Given the description of an element on the screen output the (x, y) to click on. 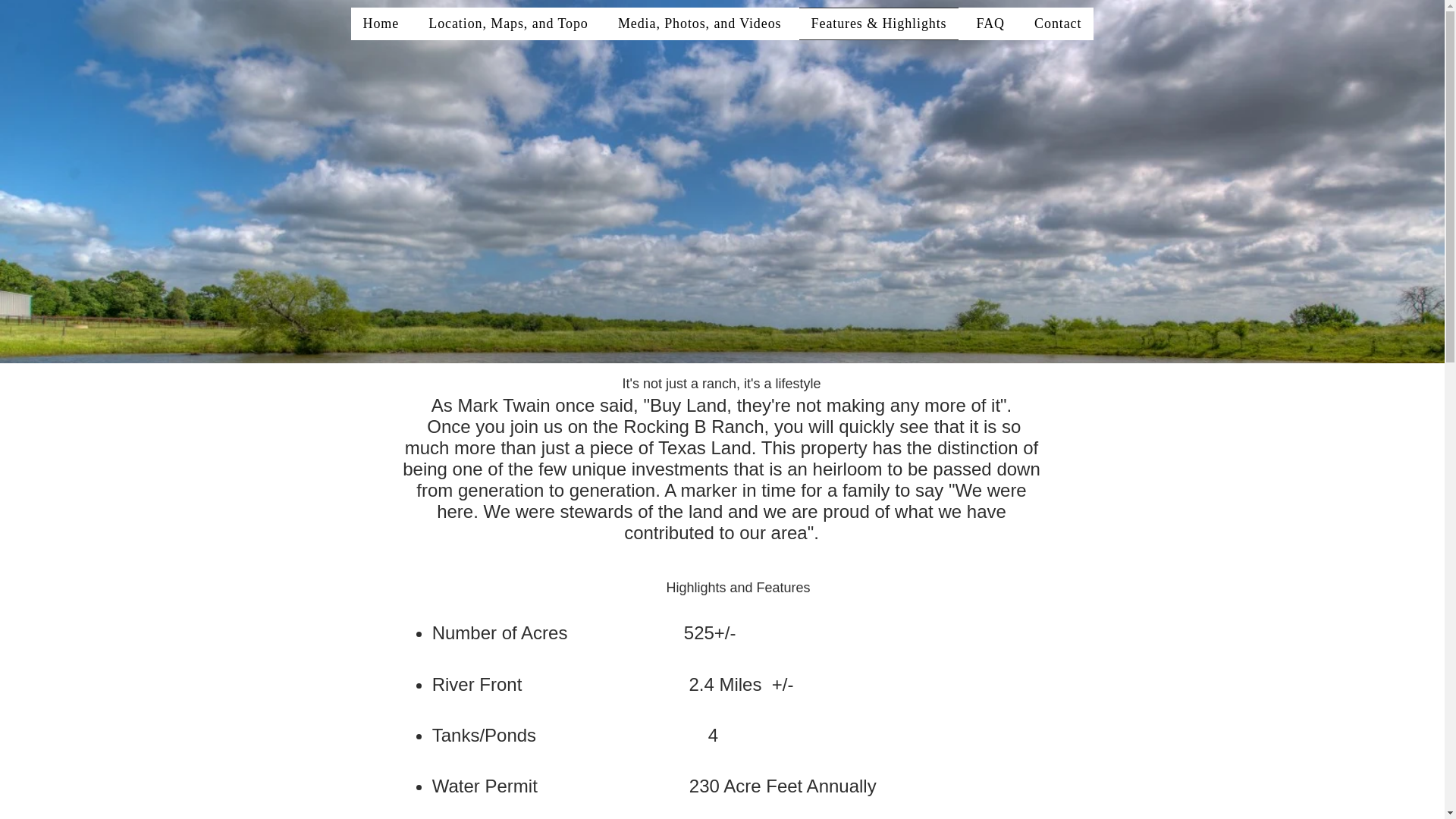
Home (380, 23)
Location, Maps, and Topo (507, 23)
FAQ (989, 23)
Contact (1058, 23)
Media, Photos, and Videos (699, 23)
